Given the description of an element on the screen output the (x, y) to click on. 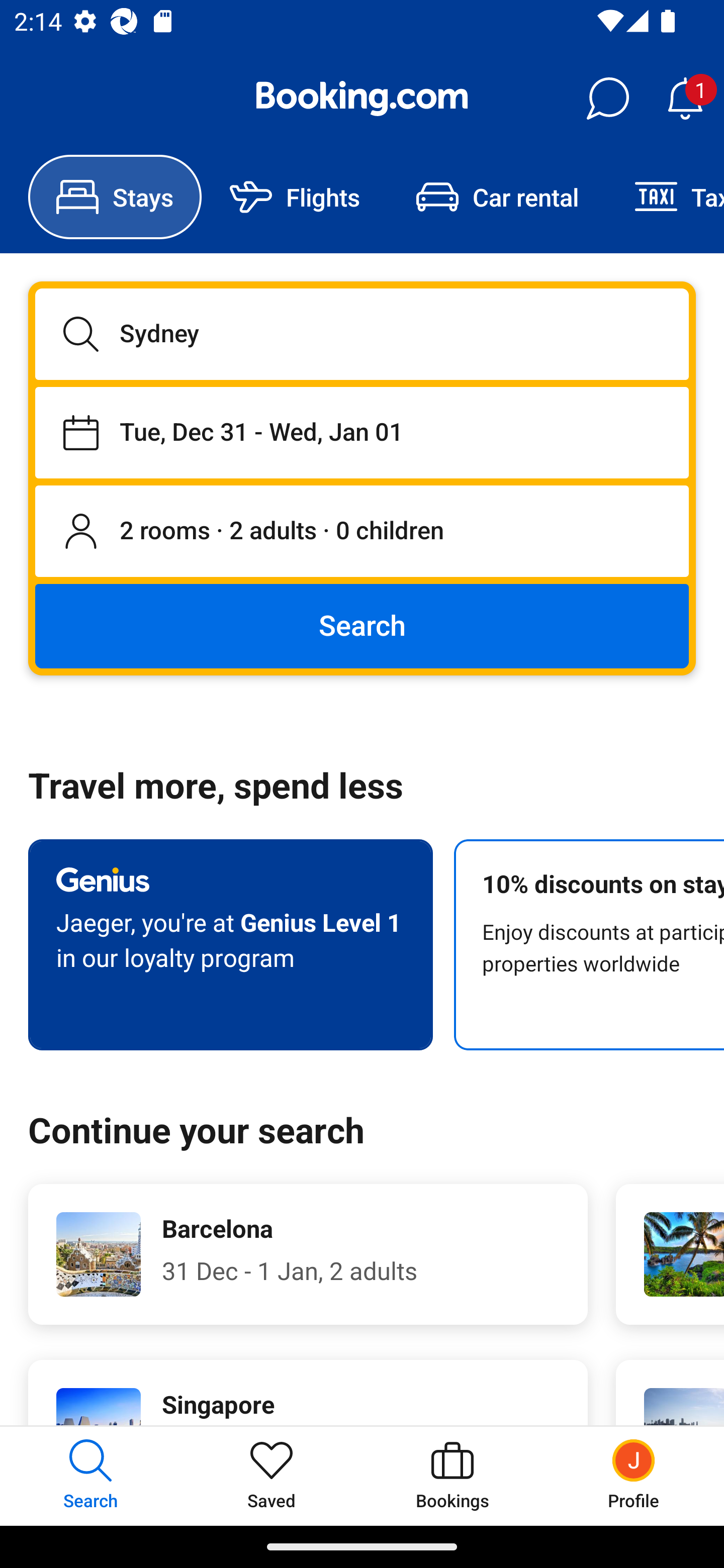
Messages (607, 98)
Notifications (685, 98)
Stays (114, 197)
Flights (294, 197)
Car rental (497, 197)
Taxi (665, 197)
Sydney (361, 333)
Staying from Tue, Dec 31 until Wed, Jan 01 (361, 432)
2 rooms, 2 adults, 0 children (361, 531)
Search (361, 625)
Barcelona 31 Dec - 1 Jan, 2 adults (307, 1253)
Saved (271, 1475)
Bookings (452, 1475)
Profile (633, 1475)
